Given the description of an element on the screen output the (x, y) to click on. 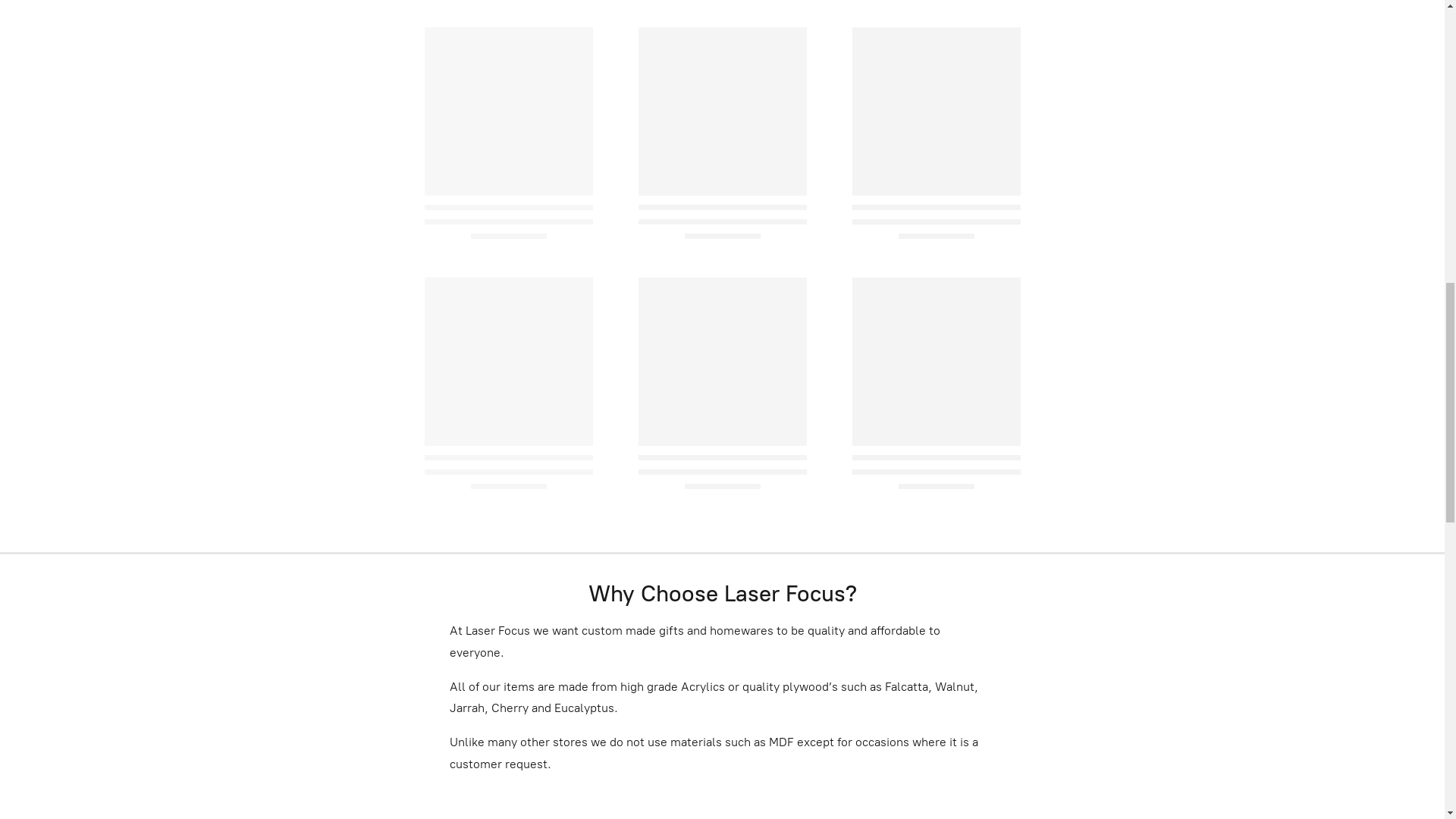
Store Element type: text (45, 29)
About Element type: text (103, 29)
Contact us Element type: text (249, 29)
Location Element type: text (169, 29)
